Given the description of an element on the screen output the (x, y) to click on. 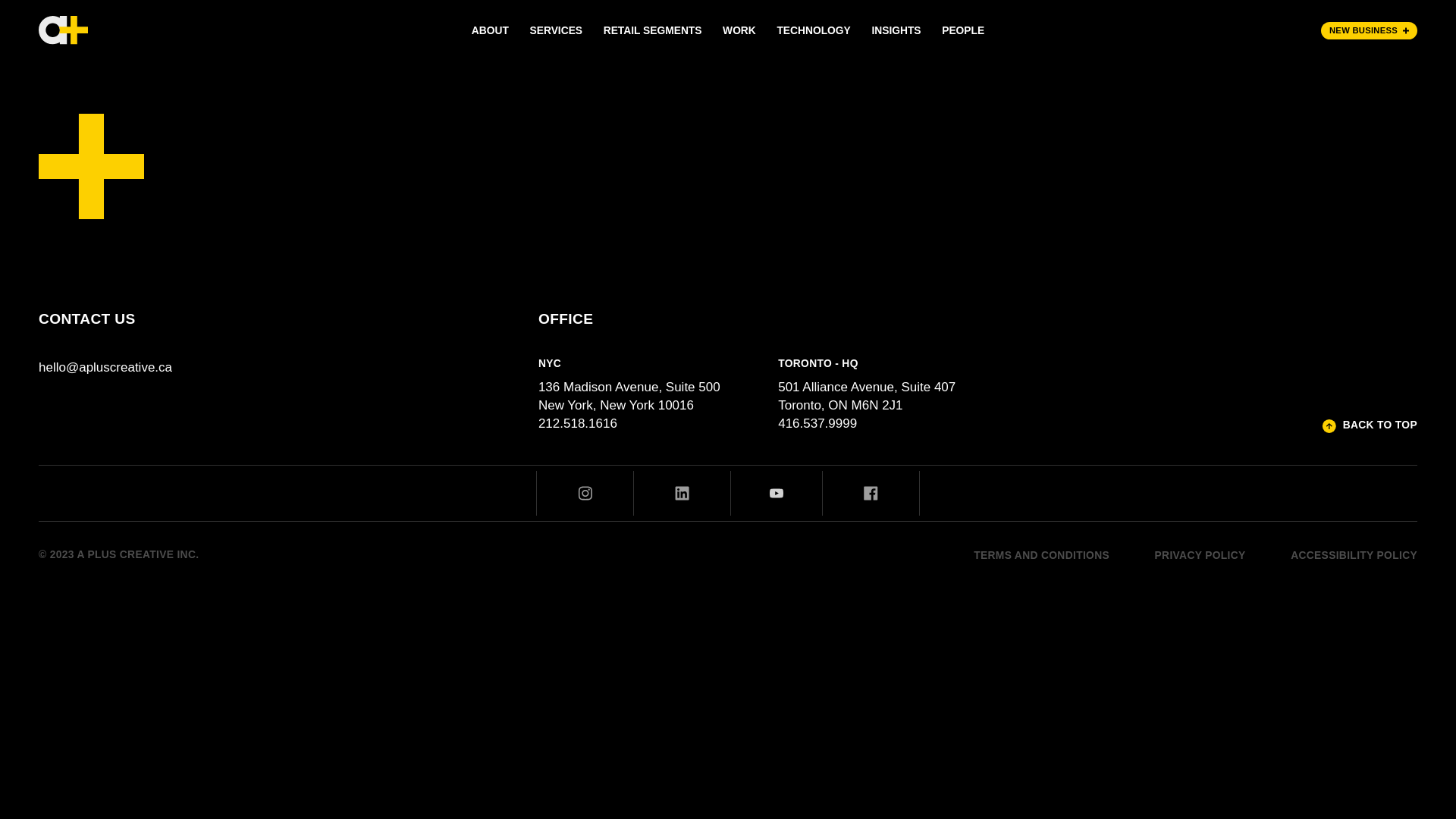
PRIVACY POLICY Element type: text (1199, 554)
hello@apluscreative.ca Element type: text (105, 367)
SERVICES Element type: text (556, 29)
INSIGHTS Element type: text (896, 29)
TECHNOLOGY Element type: text (813, 29)
BACK TO TOP Element type: text (1369, 425)
ACCESSIBILITY POLICY Element type: text (1353, 554)
RETAIL SEGMENTS Element type: text (652, 29)
NEW BUSINESS Element type: text (1369, 29)
WORK Element type: text (738, 29)
PEOPLE Element type: text (962, 29)
TERMS AND CONDITIONS Element type: text (1041, 554)
ABOUT Element type: text (490, 29)
